Given the description of an element on the screen output the (x, y) to click on. 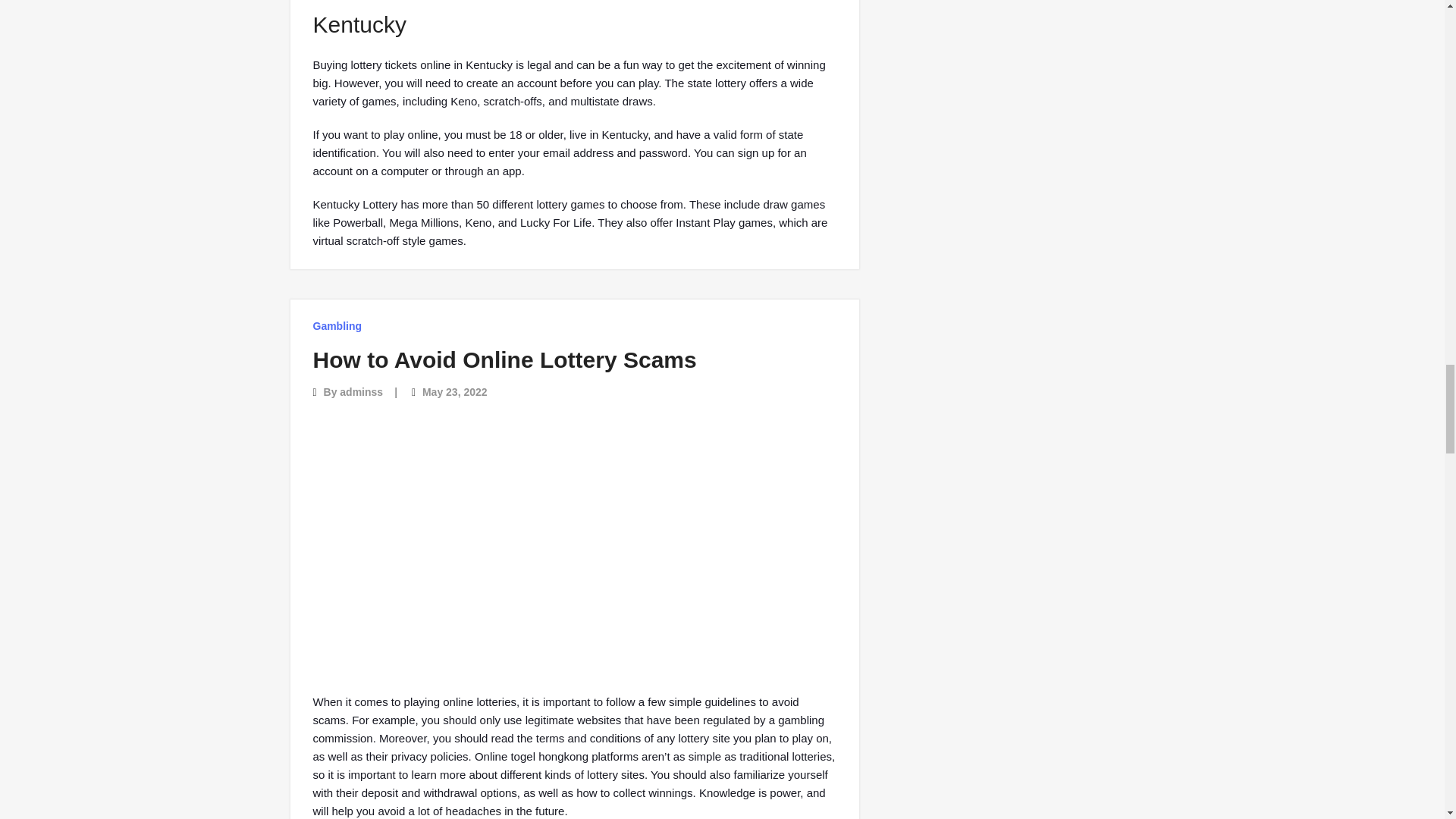
How to Avoid Online Lottery Scams (504, 359)
adminss (360, 391)
May 23, 2022 (454, 391)
Gambling (337, 325)
